Given the description of an element on the screen output the (x, y) to click on. 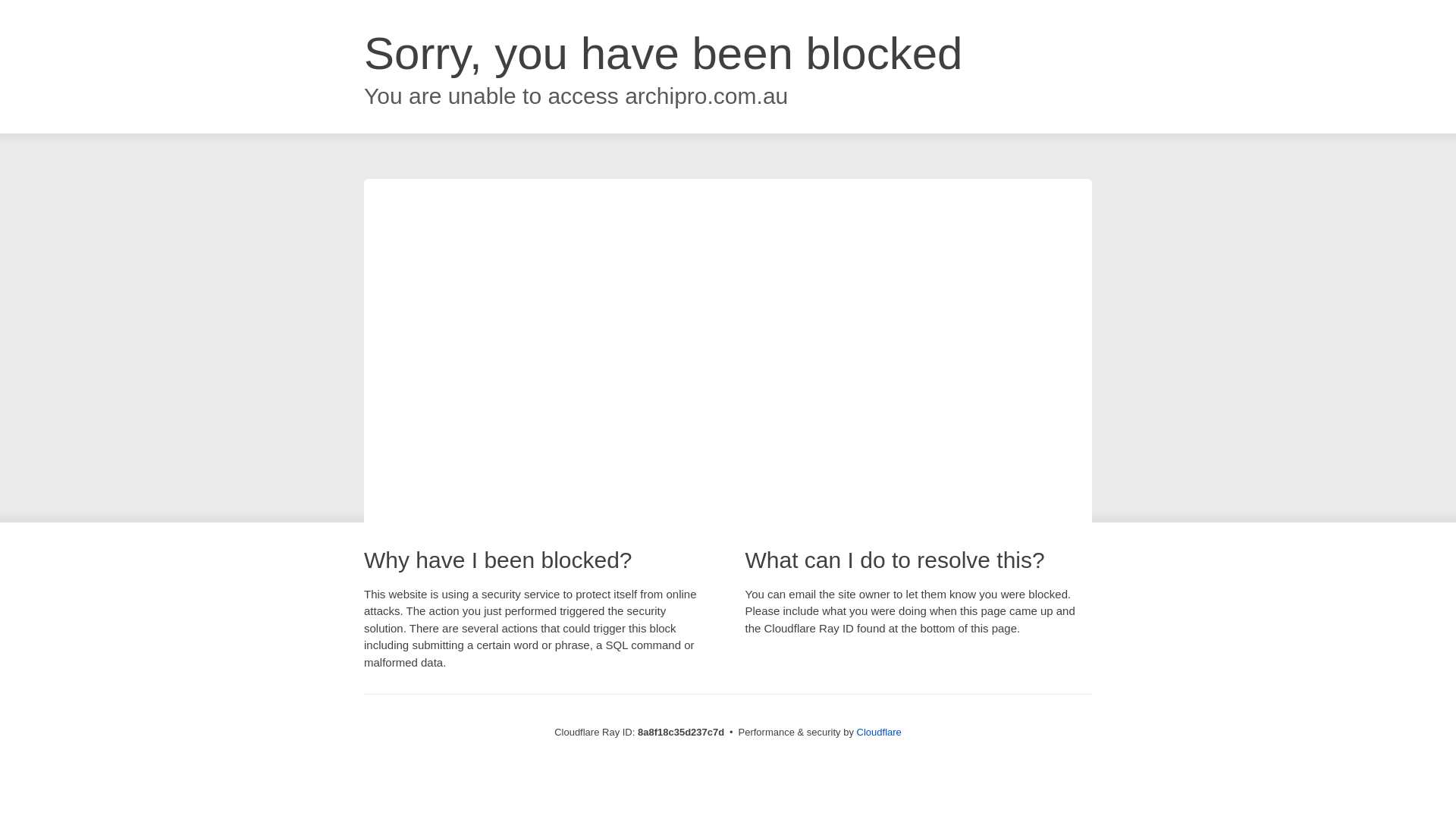
Cloudflare (879, 731)
